Given the description of an element on the screen output the (x, y) to click on. 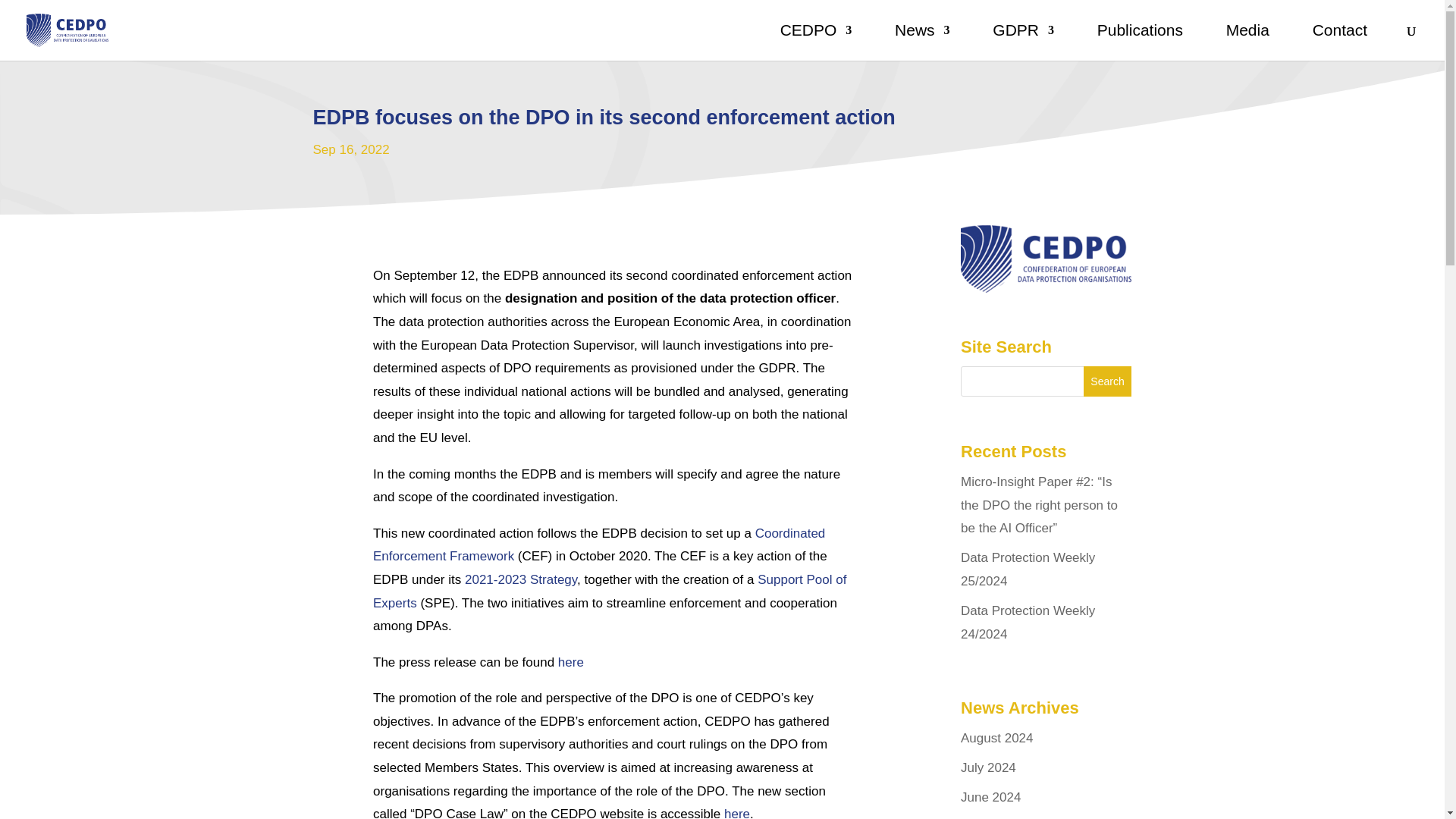
August 2024 (996, 738)
Coordinated Enforcement Framework (598, 545)
Support Pool of Experts (608, 591)
July 2024 (988, 767)
Search (1107, 381)
Media (1247, 42)
CEDPO (815, 42)
News (922, 42)
Search (1107, 381)
here (736, 812)
